Given the description of an element on the screen output the (x, y) to click on. 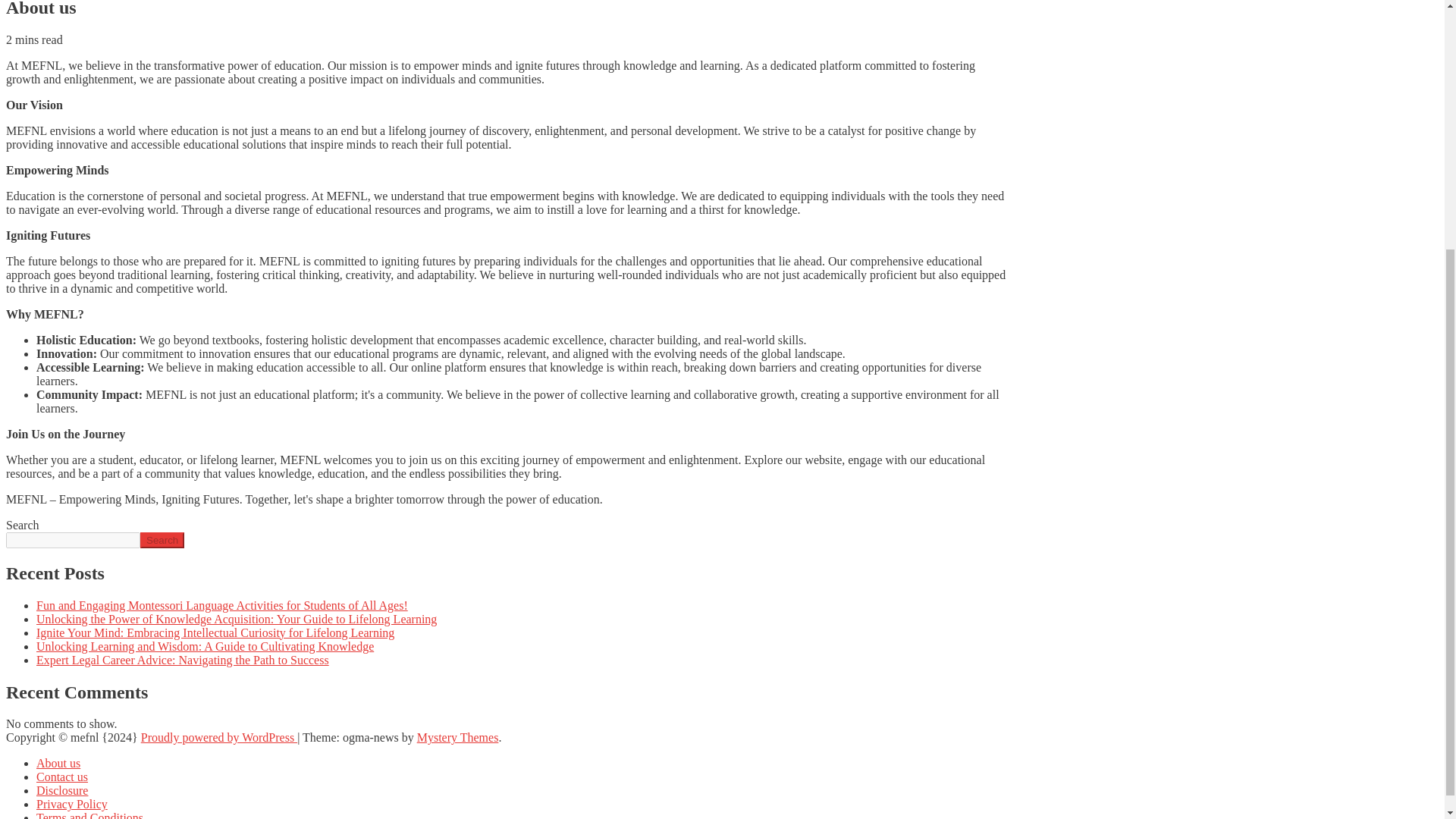
Disclosure (61, 789)
Mystery Themes (457, 737)
Search (161, 539)
About us (58, 762)
Privacy Policy (71, 803)
Contact us (61, 776)
Proudly powered by WordPress (219, 737)
Expert Legal Career Advice: Navigating the Path to Success (182, 659)
